Given the description of an element on the screen output the (x, y) to click on. 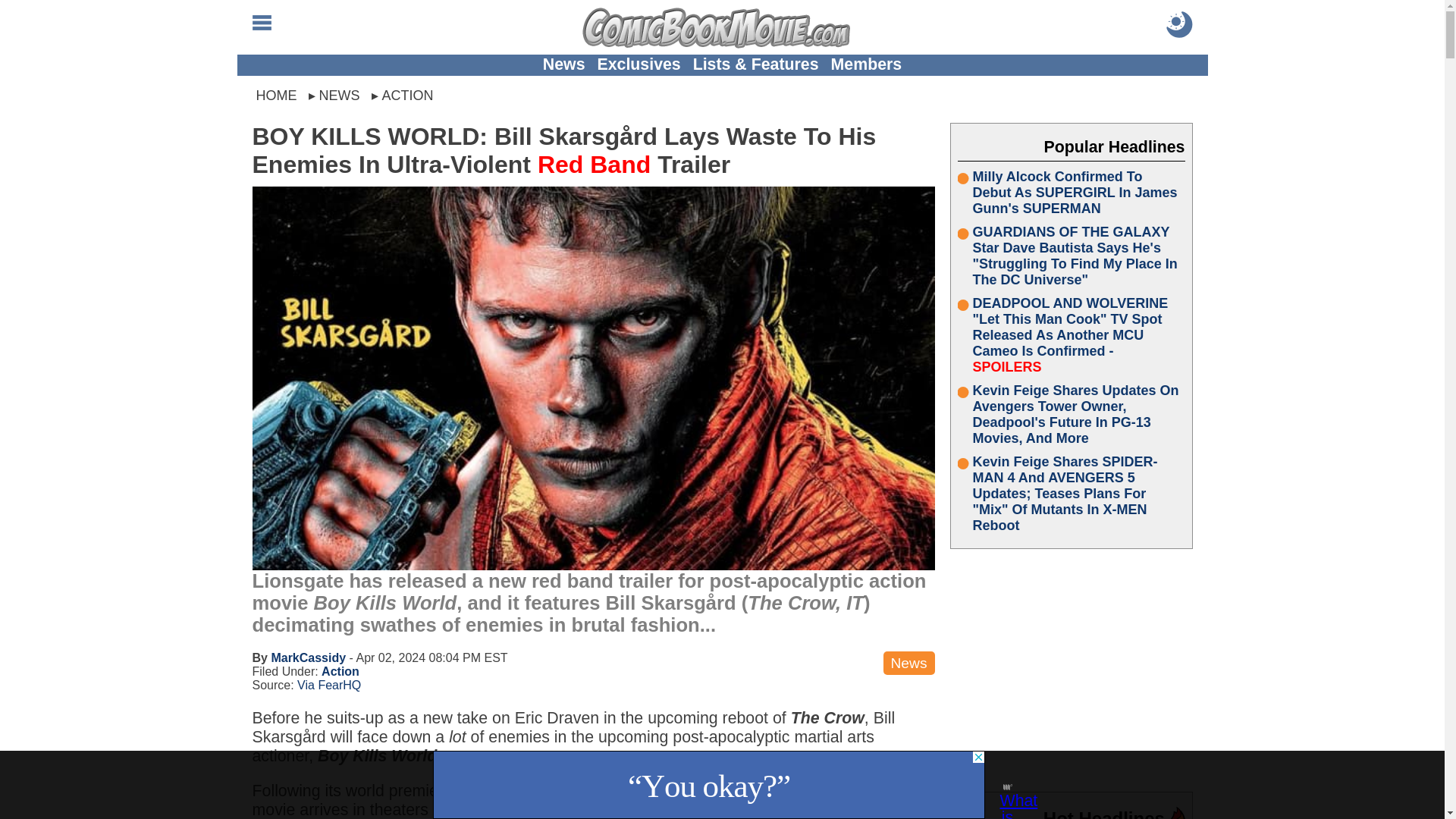
News (564, 64)
Members (866, 64)
Exclusives (637, 64)
